Given the description of an element on the screen output the (x, y) to click on. 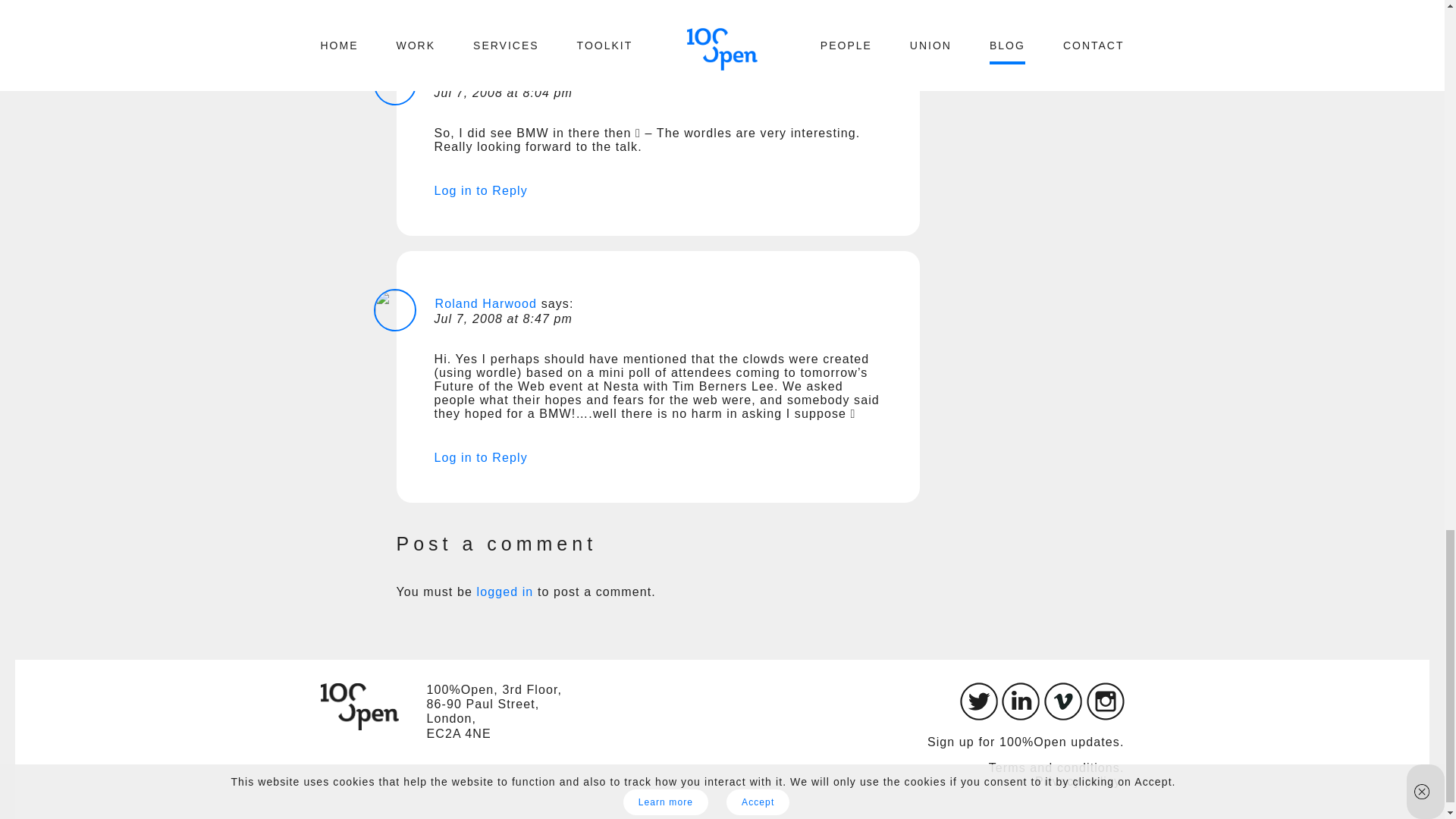
Connect with us on LinkedIn (1020, 716)
See us on Instagram (1105, 716)
Shorts on Vimeo (1062, 716)
Find us on Twitter (978, 716)
